Given the description of an element on the screen output the (x, y) to click on. 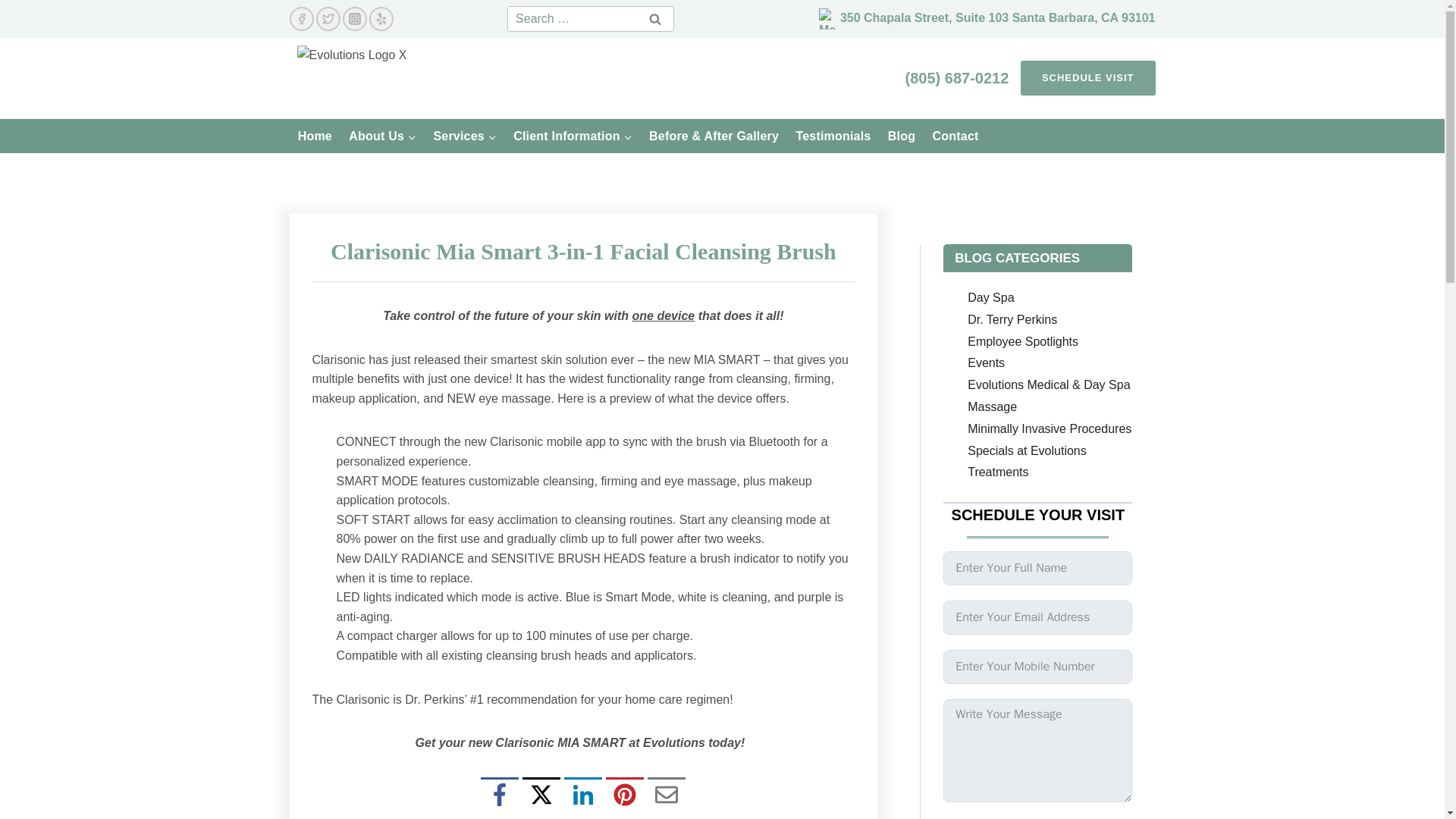
SCHEDULE VISIT (1088, 78)
Search (655, 18)
350 Chapala Street, Suite 103 Santa Barbara, CA 93101 (998, 17)
Search (655, 18)
About Us (382, 135)
Home (314, 135)
Search (655, 18)
Services (465, 135)
